Given the description of an element on the screen output the (x, y) to click on. 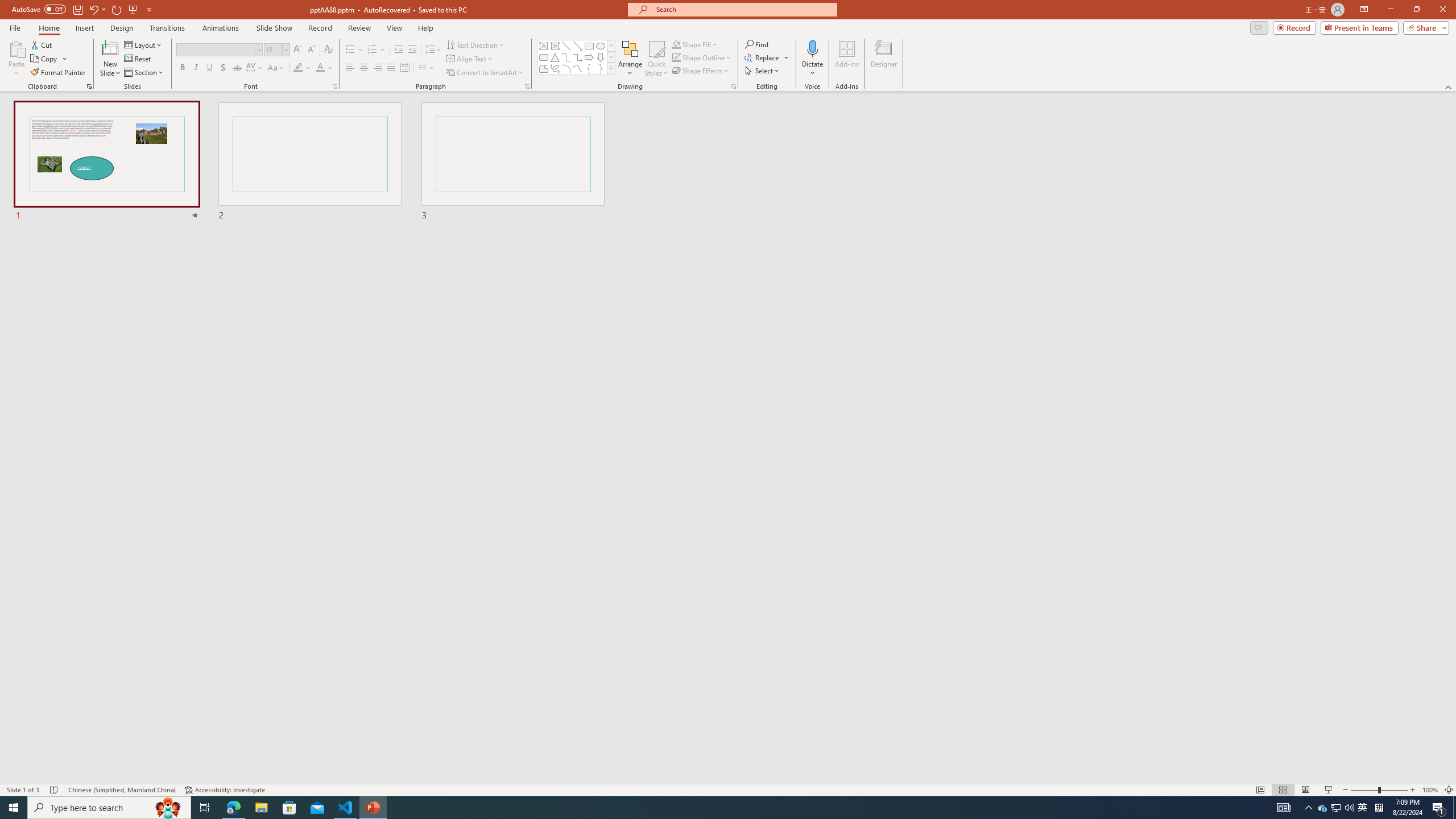
Text Highlight Color Yellow (297, 67)
Align Text (470, 58)
Line Arrow (577, 45)
Freeform: Shape (543, 68)
